Given the description of an element on the screen output the (x, y) to click on. 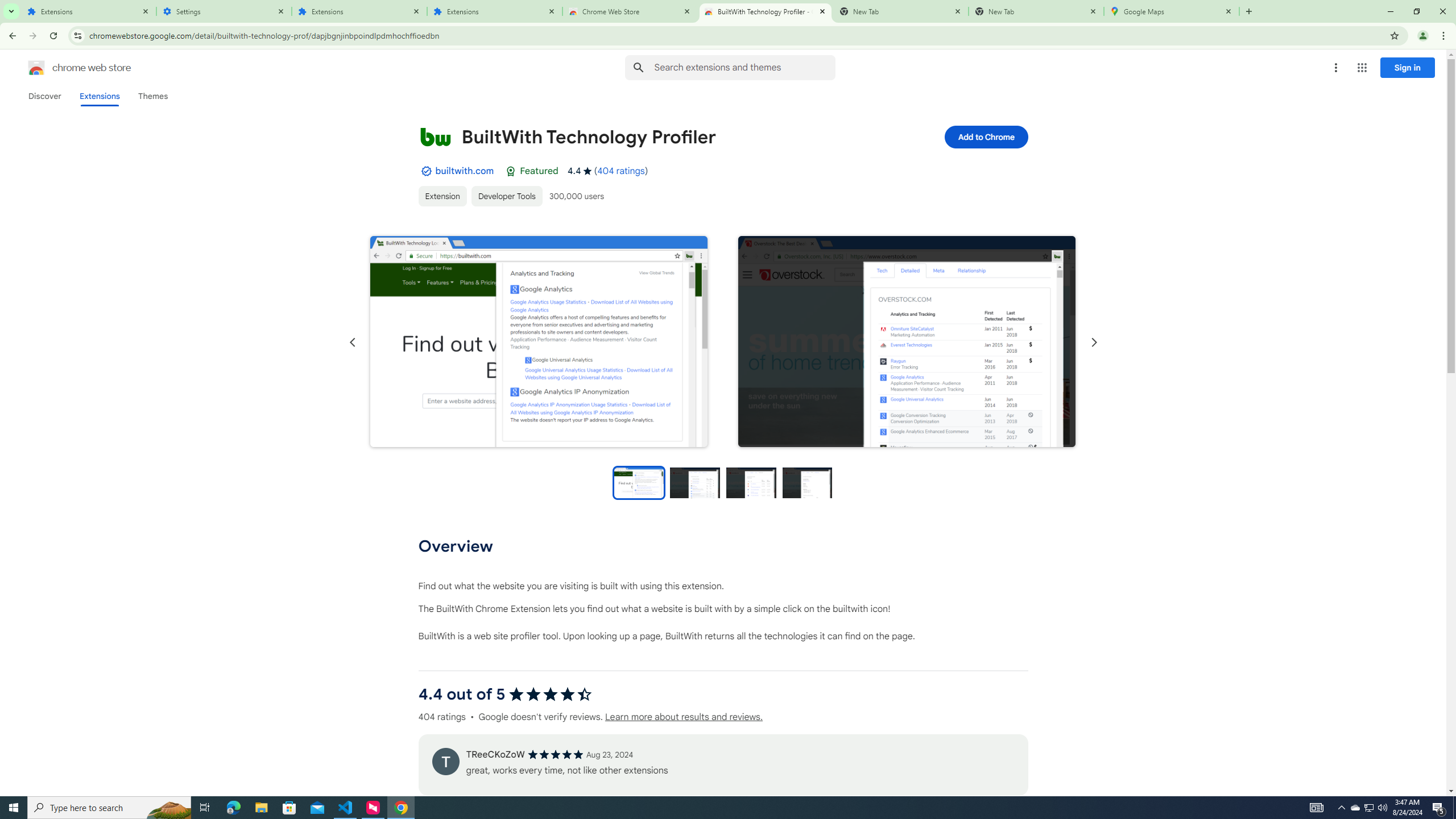
Extensions (99, 95)
Search input (744, 67)
Learn more about results and reviews. (683, 716)
Preview slide 3 (751, 482)
Preview slide 1 (637, 482)
Chrome Web Store logo (36, 67)
Extensions (359, 11)
Featured Badge (510, 170)
Item media 2 screenshot (906, 342)
Previous slide (352, 342)
